Given the description of an element on the screen output the (x, y) to click on. 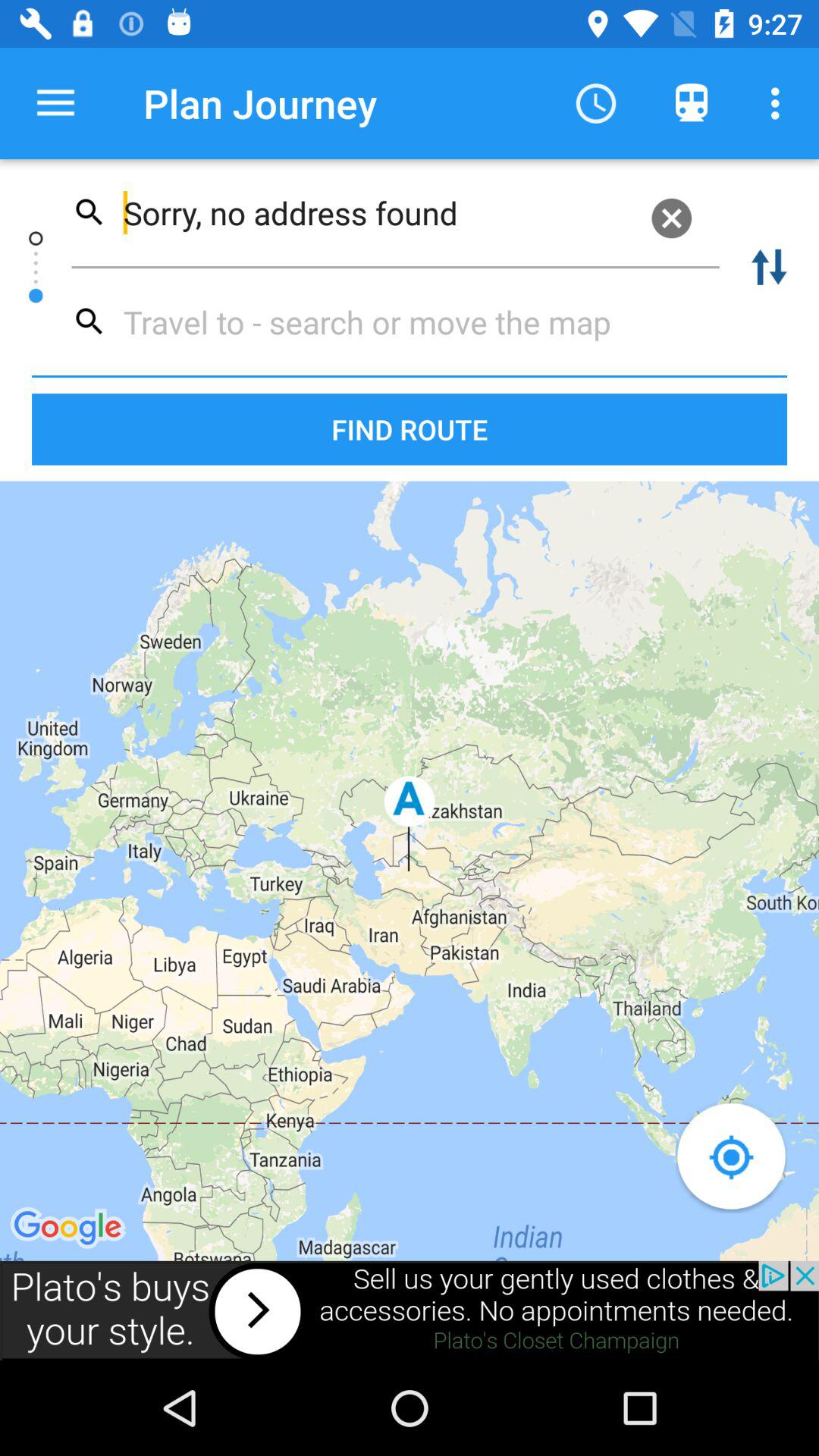
advertisement banner (409, 1310)
